Given the description of an element on the screen output the (x, y) to click on. 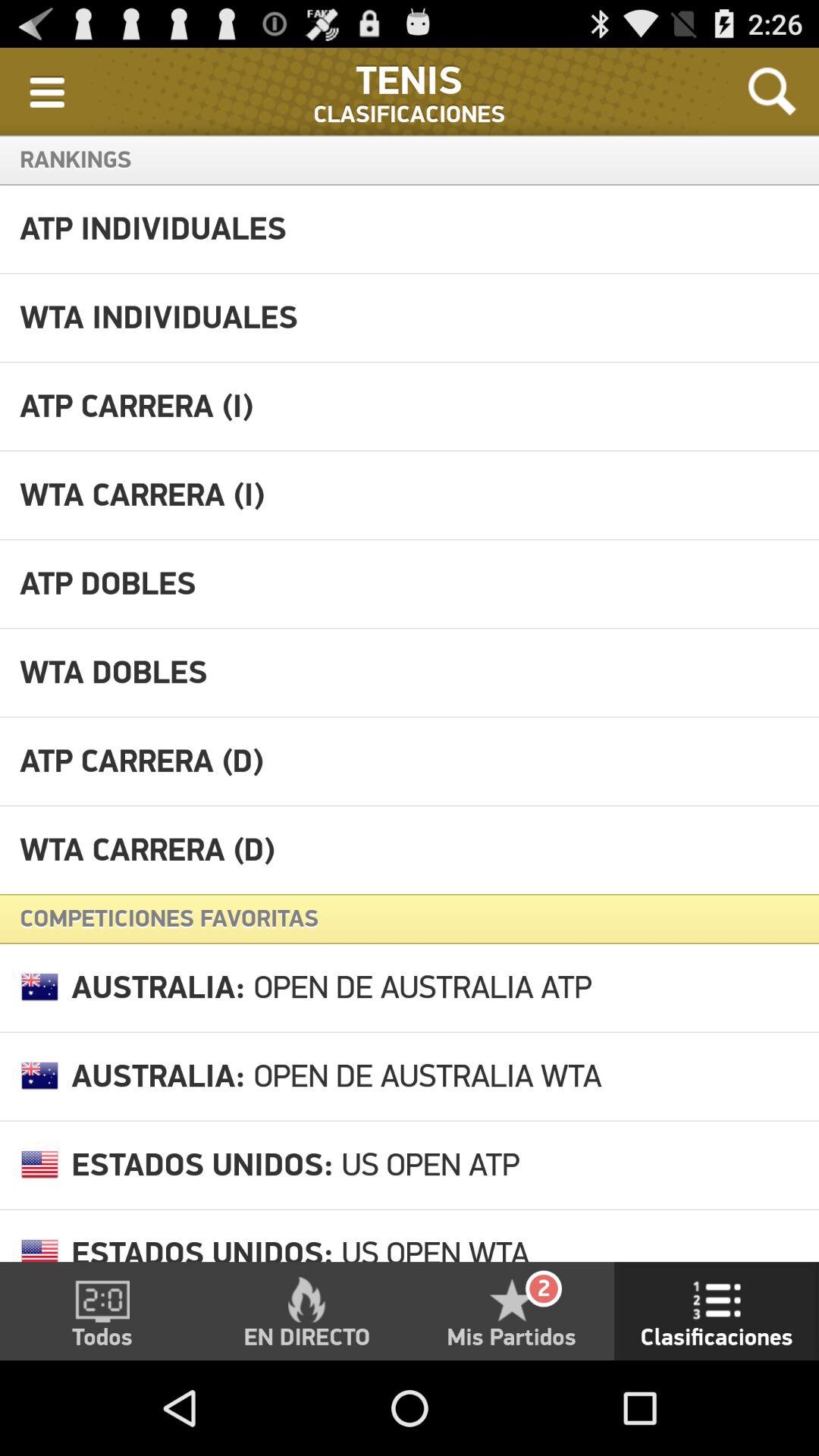
press the item to the right of clasificaciones icon (772, 91)
